Given the description of an element on the screen output the (x, y) to click on. 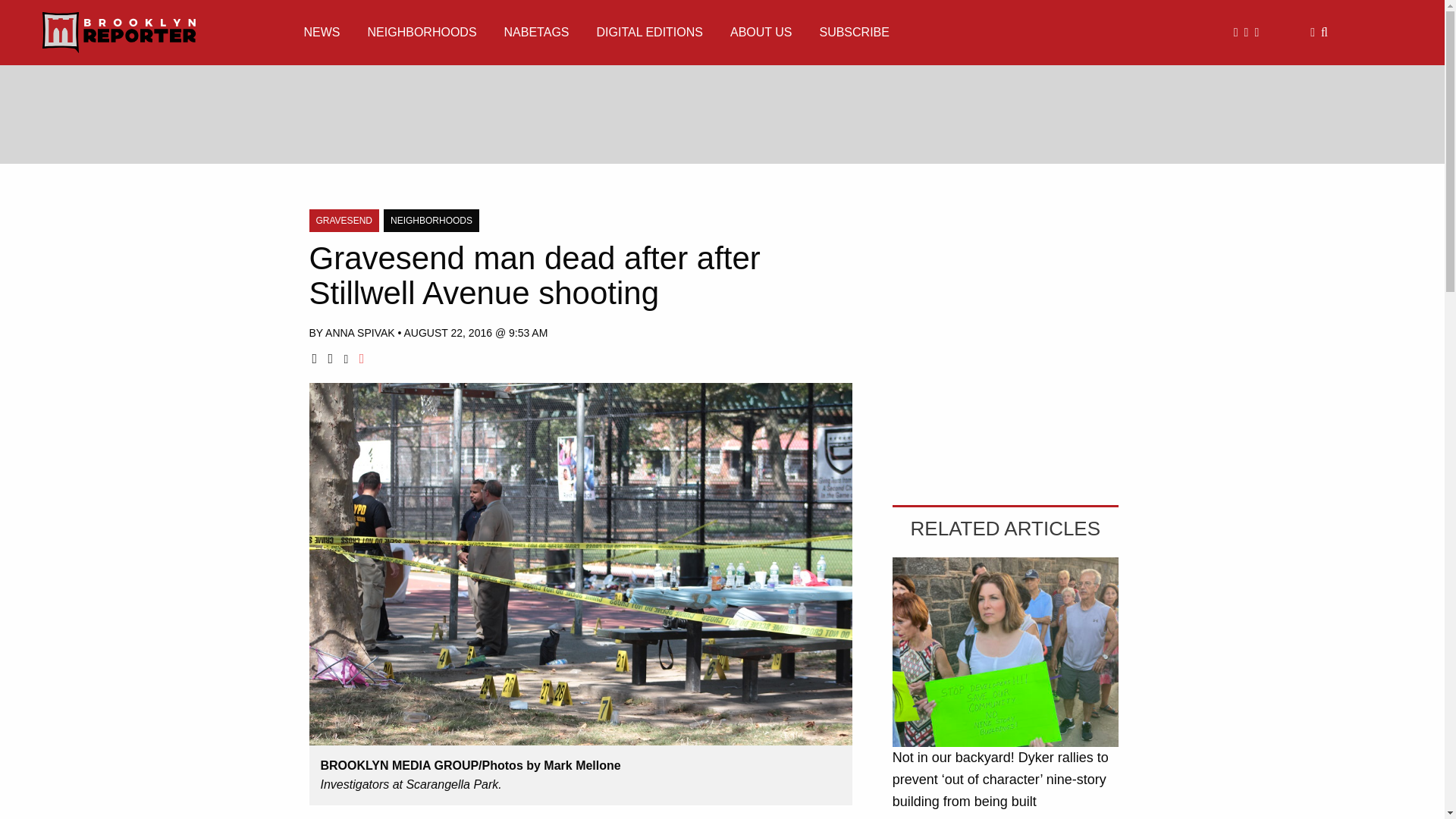
Search (1323, 31)
